Given the description of an element on the screen output the (x, y) to click on. 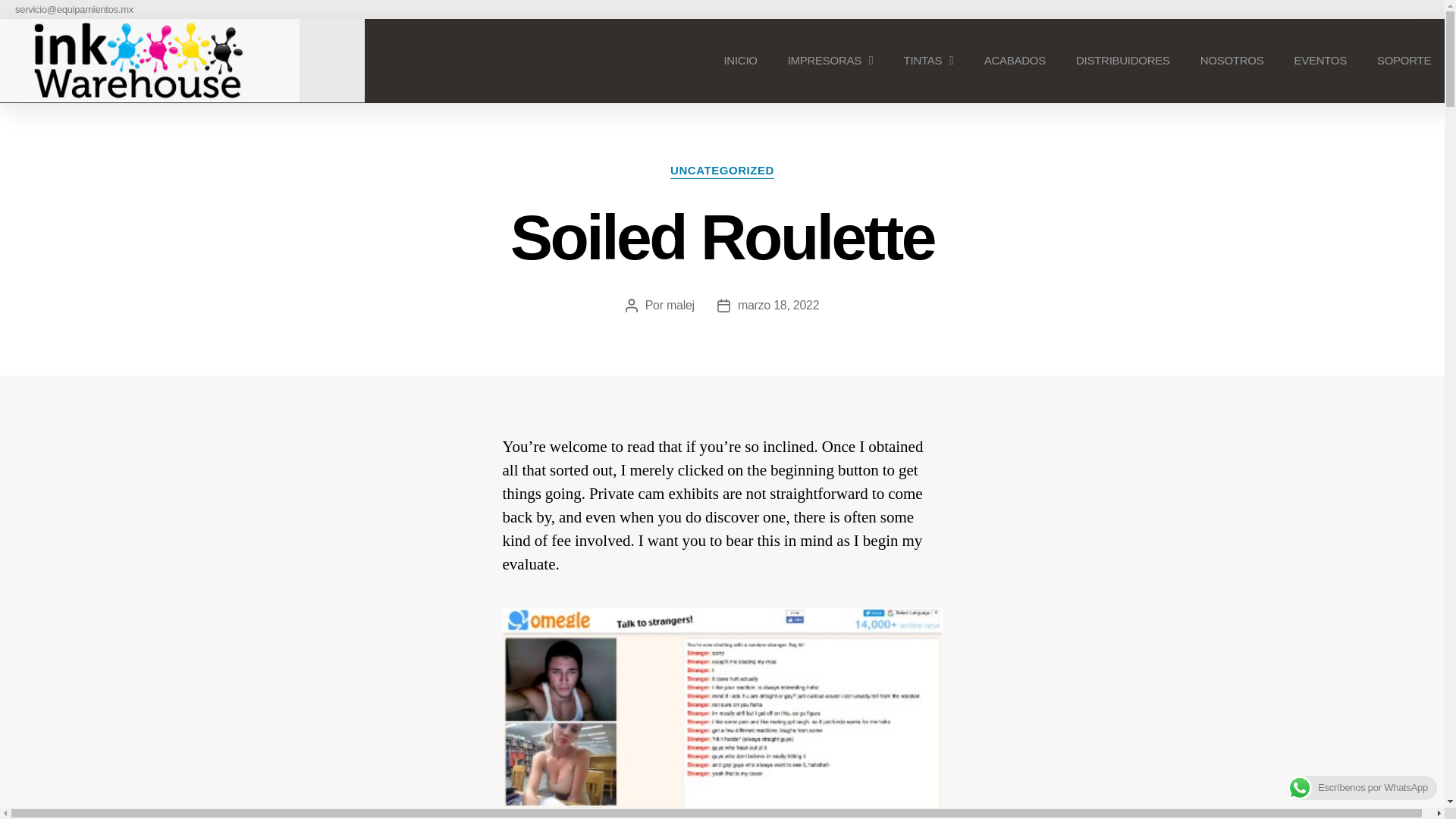
IMPRESORAS (830, 60)
UNCATEGORIZED (721, 171)
ACABADOS (1015, 60)
SOPORTE (1403, 60)
EVENTOS (1319, 60)
TINTAS (928, 60)
DISTRIBUIDORES (1123, 60)
NOSOTROS (1232, 60)
INICIO (739, 60)
